Given the description of an element on the screen output the (x, y) to click on. 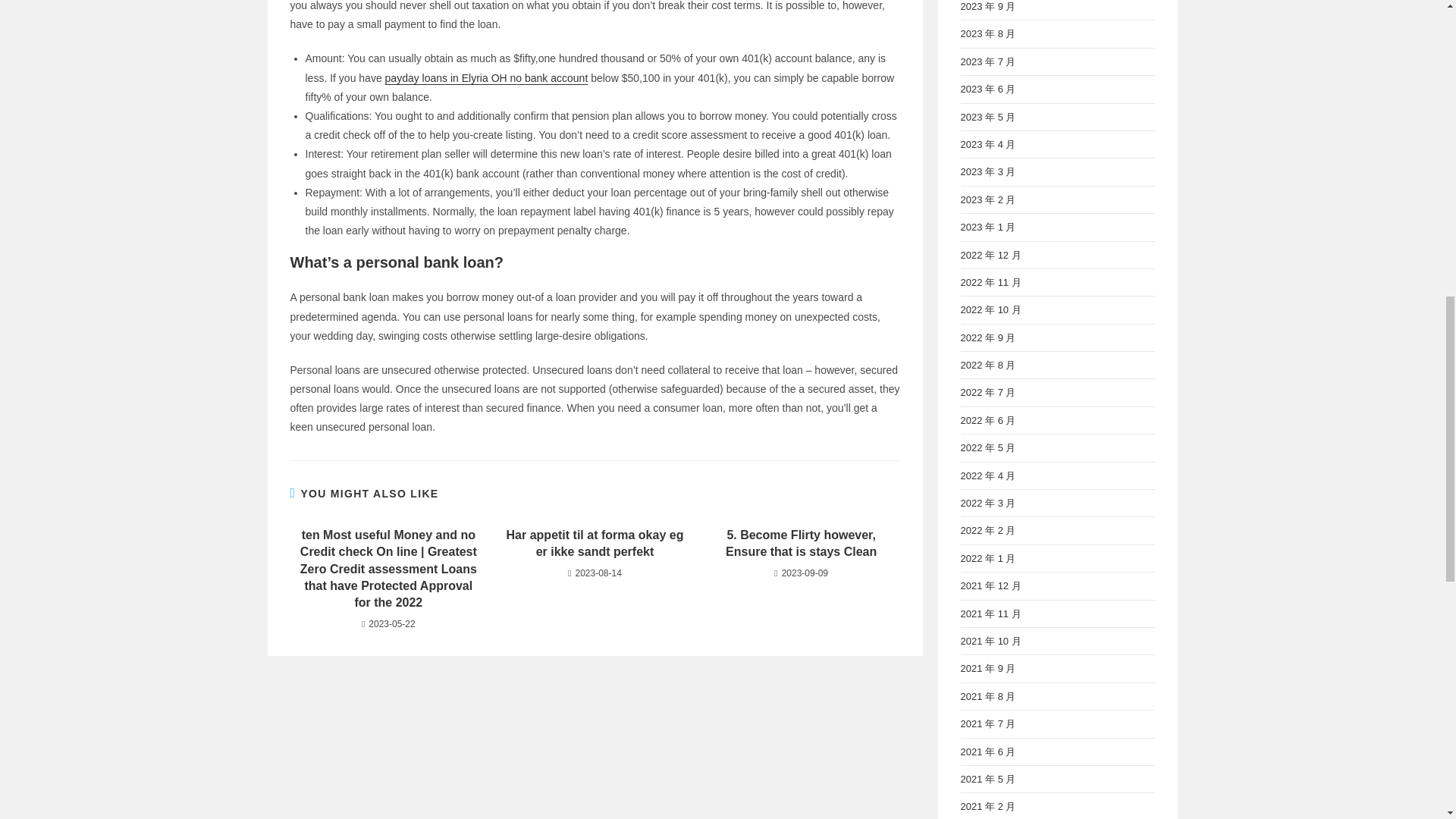
5. Become Flirty however, Ensure that is stays Clean (801, 544)
Har appetit til at forma okay eg er ikke sandt perfekt (594, 544)
payday loans in Elyria OH no bank account (486, 78)
